Given the description of an element on the screen output the (x, y) to click on. 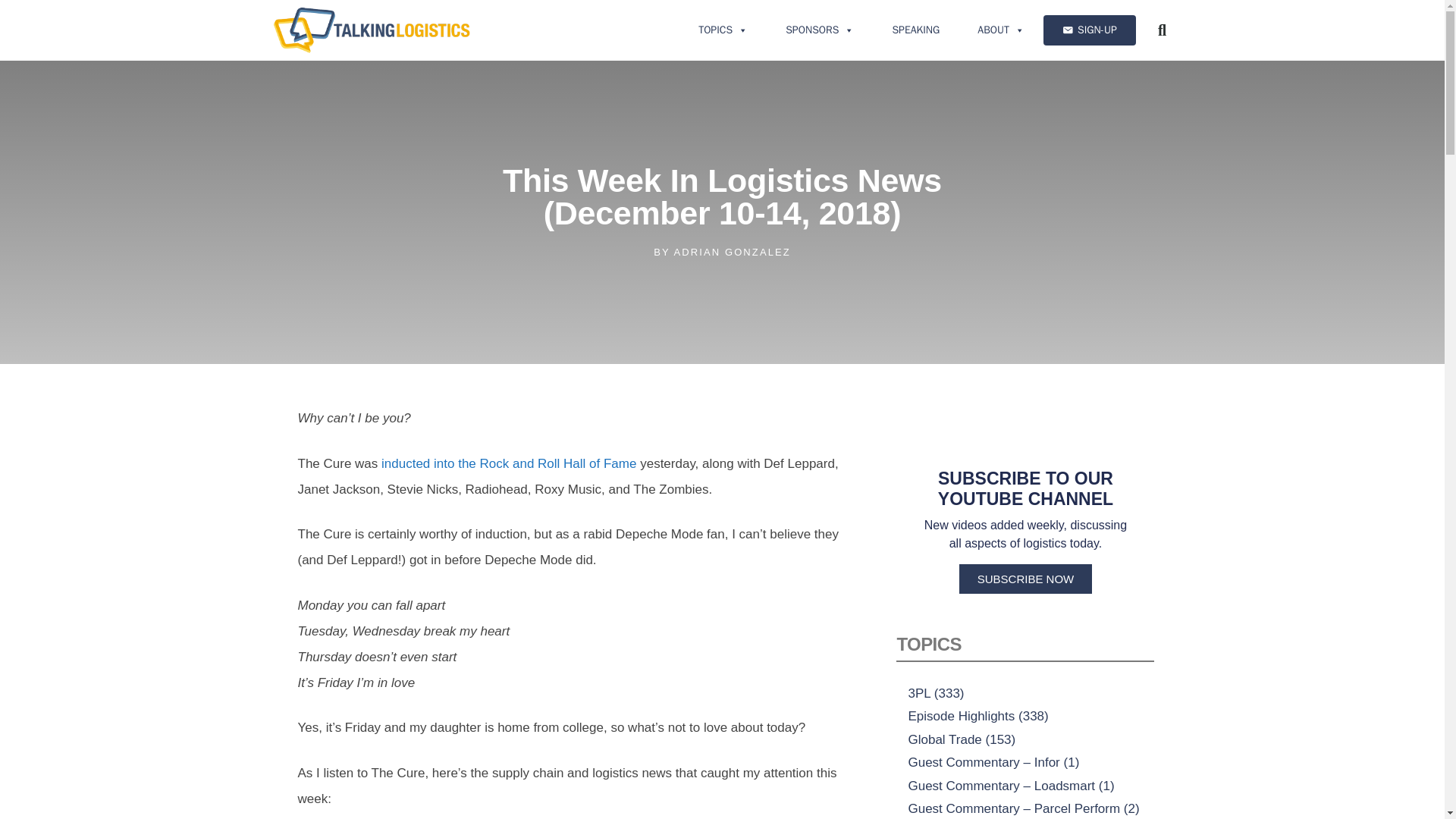
ABOUT (1000, 30)
SPONSORS (819, 30)
SIGN-UP (1089, 30)
SPEAKING (915, 30)
TOPICS (723, 30)
